Given the description of an element on the screen output the (x, y) to click on. 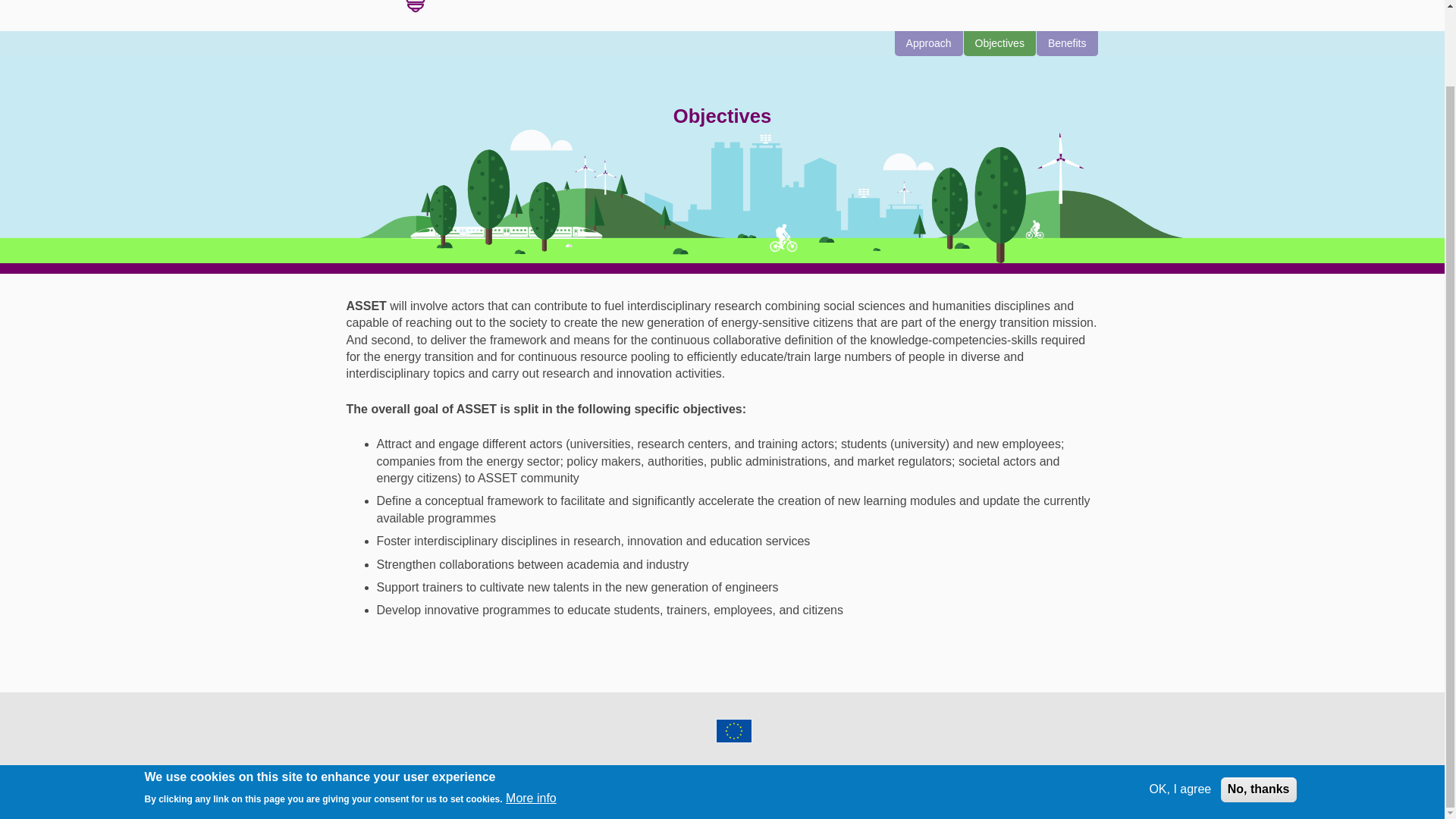
No, thanks (1259, 703)
Benefits (1067, 43)
More info (530, 712)
Objectives (999, 43)
Approach (929, 43)
OK, I agree (1179, 703)
Home (431, 9)
